Given the description of an element on the screen output the (x, y) to click on. 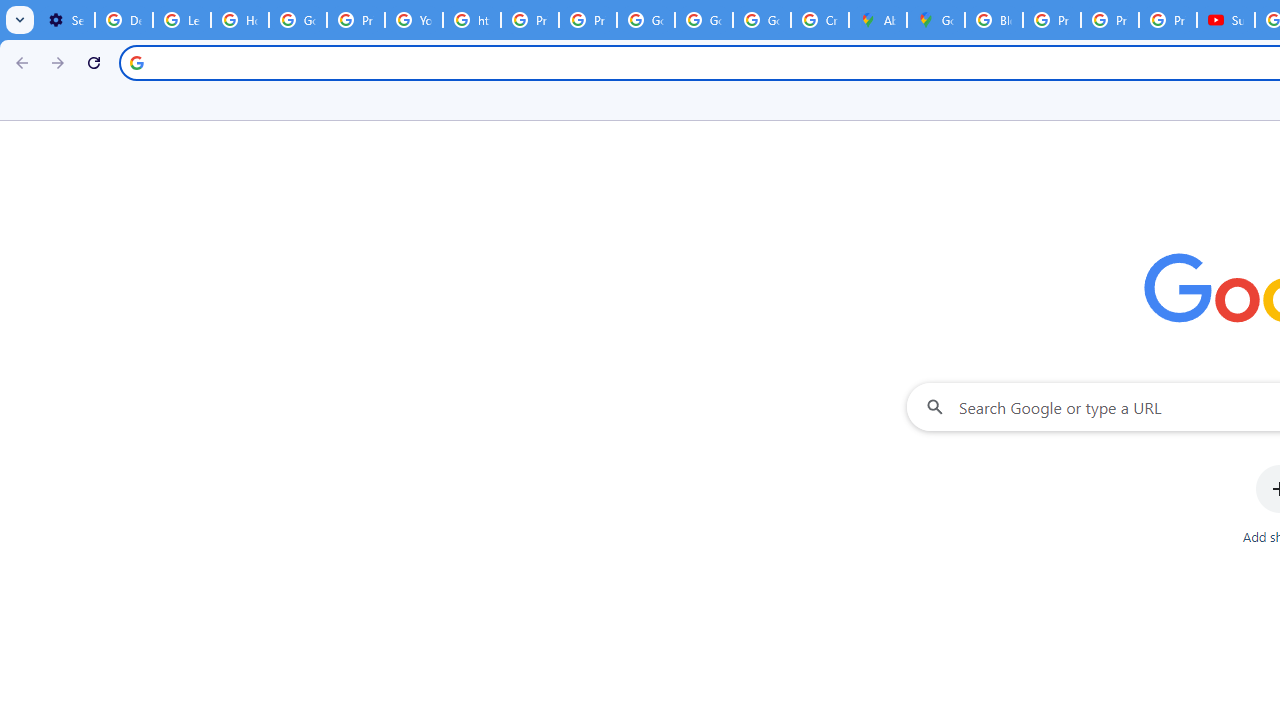
Privacy Help Center - Policies Help (1051, 20)
Google Account Help (297, 20)
Create your Google Account (819, 20)
YouTube (413, 20)
Privacy Help Center - Policies Help (355, 20)
Search icon (136, 62)
Privacy Help Center - Policies Help (529, 20)
Privacy Help Center - Policies Help (1110, 20)
